Given the description of an element on the screen output the (x, y) to click on. 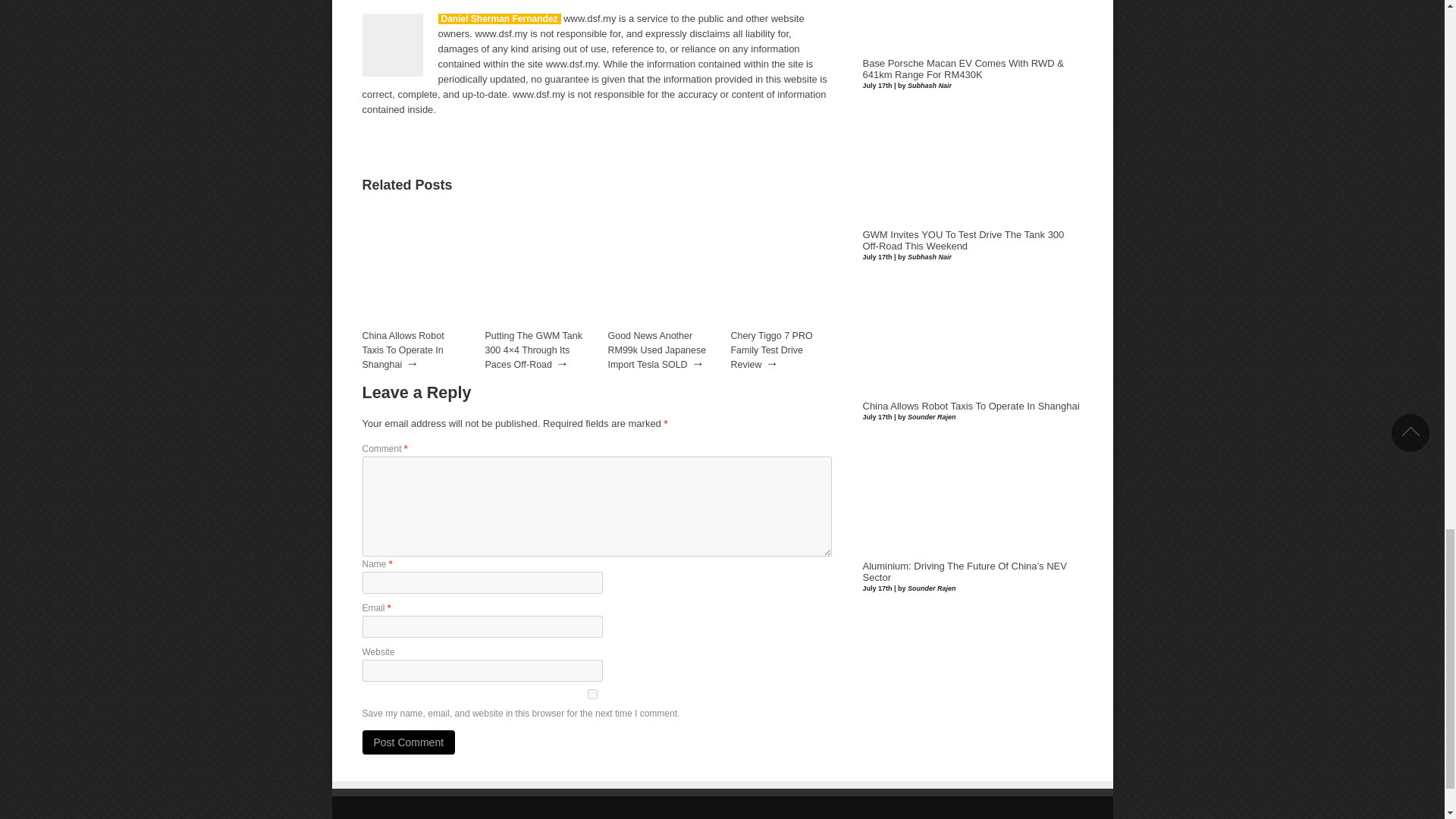
Post Comment (408, 742)
China Allows Robot Taxis To Operate In Shanghai (971, 406)
yes (593, 694)
Good News Another RM99k Used Japanese Import Tesla SOLD (657, 350)
Chery Tiggo 7 PRO Family Test Drive Review (781, 322)
Good News Another RM99k Used Japanese Import Tesla SOLD (659, 322)
Posts by Daniel Sherman Fernandez (499, 18)
China Allows Robot Taxis To Operate In Shanghai (403, 350)
China Allows Robot Taxis To Operate In Shanghai (413, 322)
Post Comment (408, 742)
Chery Tiggo 7 PRO Family Test Drive Review (771, 350)
Good News Another RM99k Used Japanese Import Tesla SOLD (657, 350)
China Allows Robot Taxis To Operate In Shanghai (403, 350)
Daniel Sherman Fernandez (499, 18)
